Given the description of an element on the screen output the (x, y) to click on. 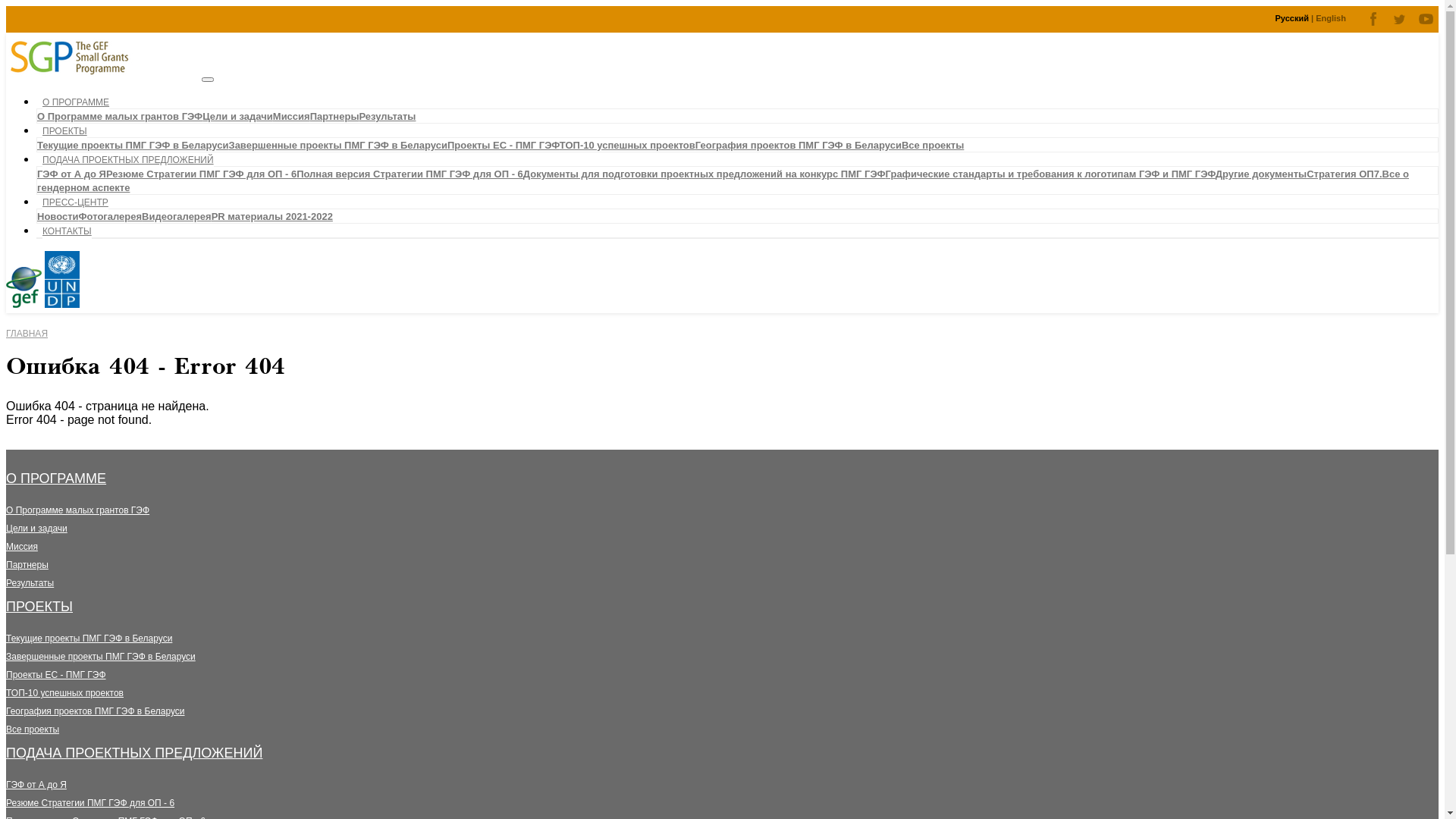
English Element type: text (1330, 17)
